Given the description of an element on the screen output the (x, y) to click on. 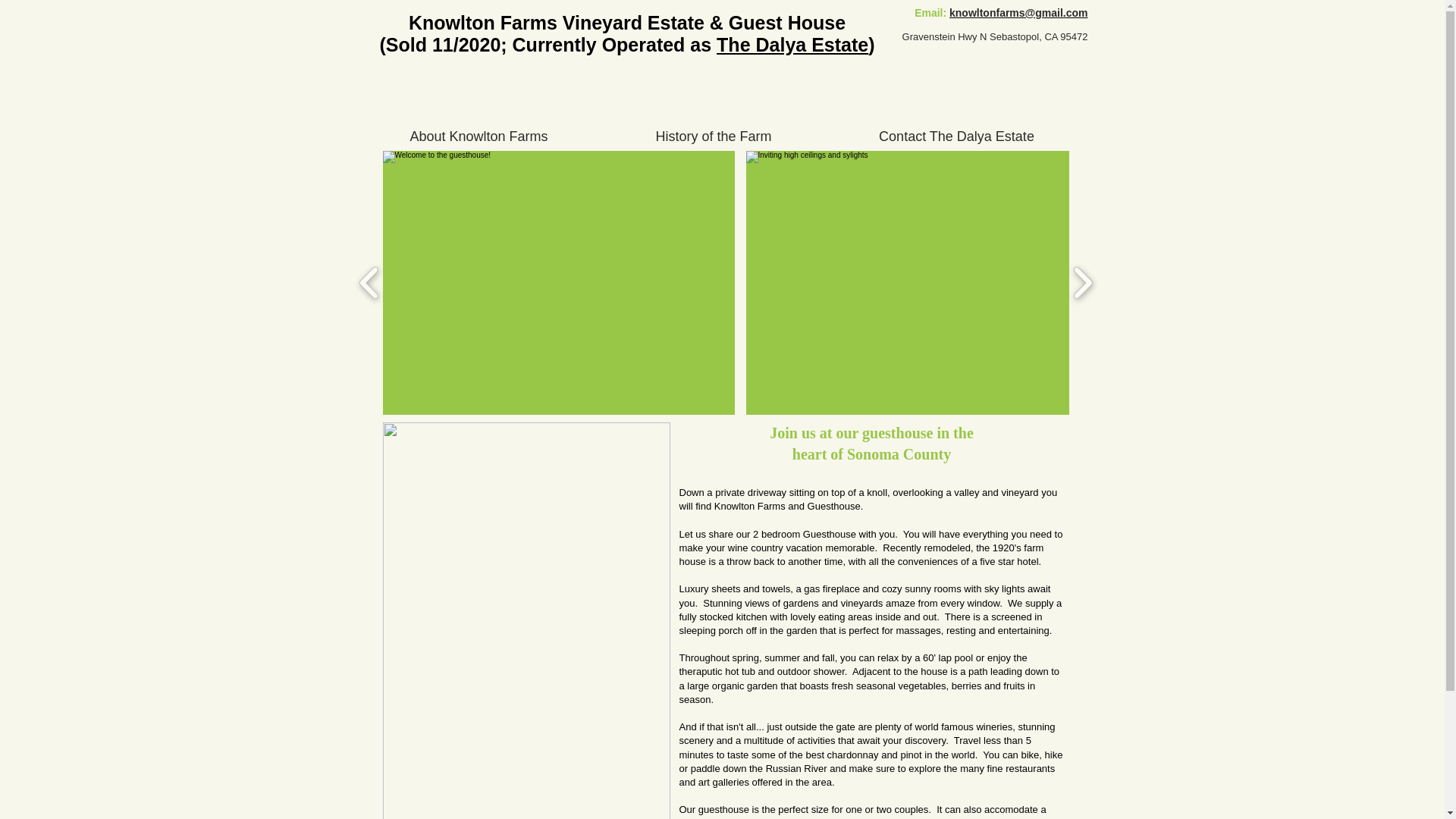
About Knowlton Farms (479, 136)
Contact The Dalya Estate (956, 136)
The Dalya Estate (791, 44)
History of the Farm (713, 136)
